Given the description of an element on the screen output the (x, y) to click on. 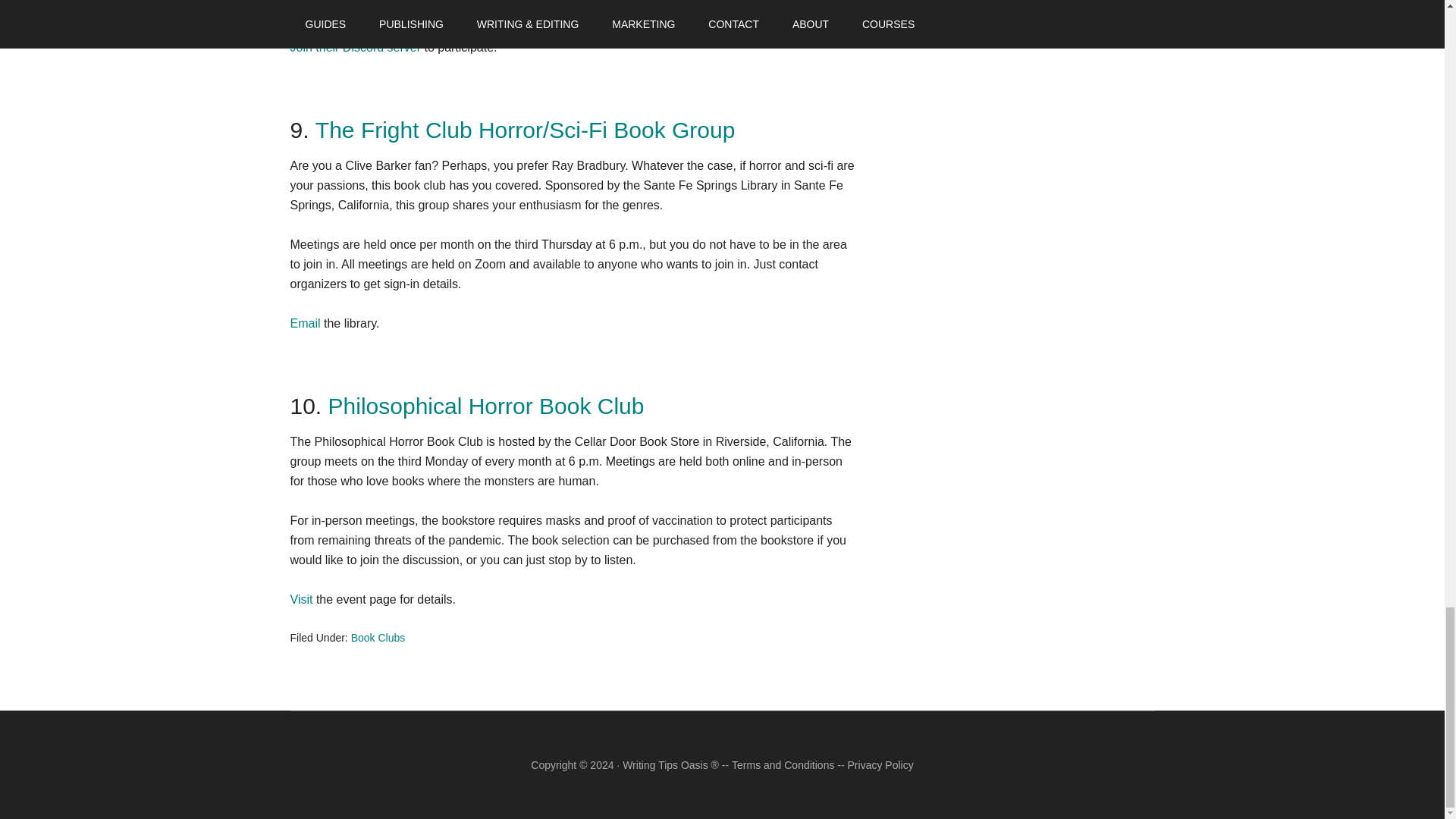
Philosophical Horror Book Club (487, 405)
Visit (301, 599)
Book Clubs (378, 637)
Email (304, 323)
Privacy Policy (880, 765)
Join their Discord server (354, 47)
Terms and Conditions (783, 765)
